Given the description of an element on the screen output the (x, y) to click on. 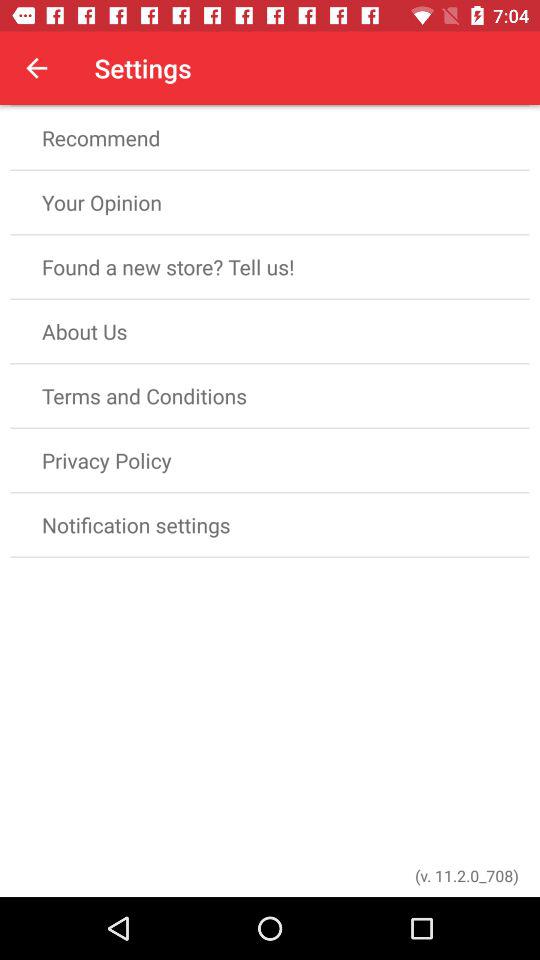
select your opinion (269, 202)
